Given the description of an element on the screen output the (x, y) to click on. 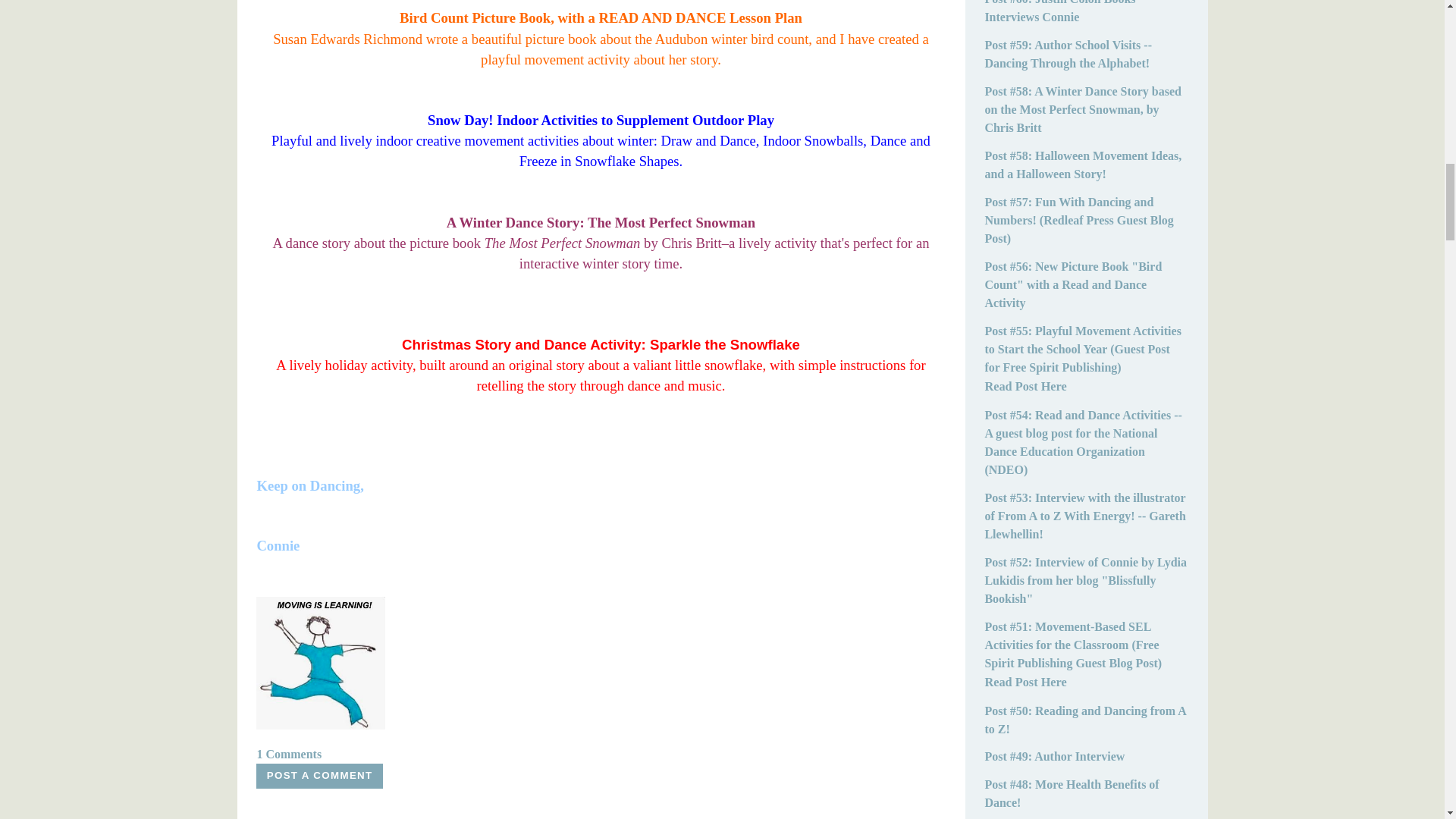
1 Comments (288, 753)
POST A COMMENT (319, 775)
